Given the description of an element on the screen output the (x, y) to click on. 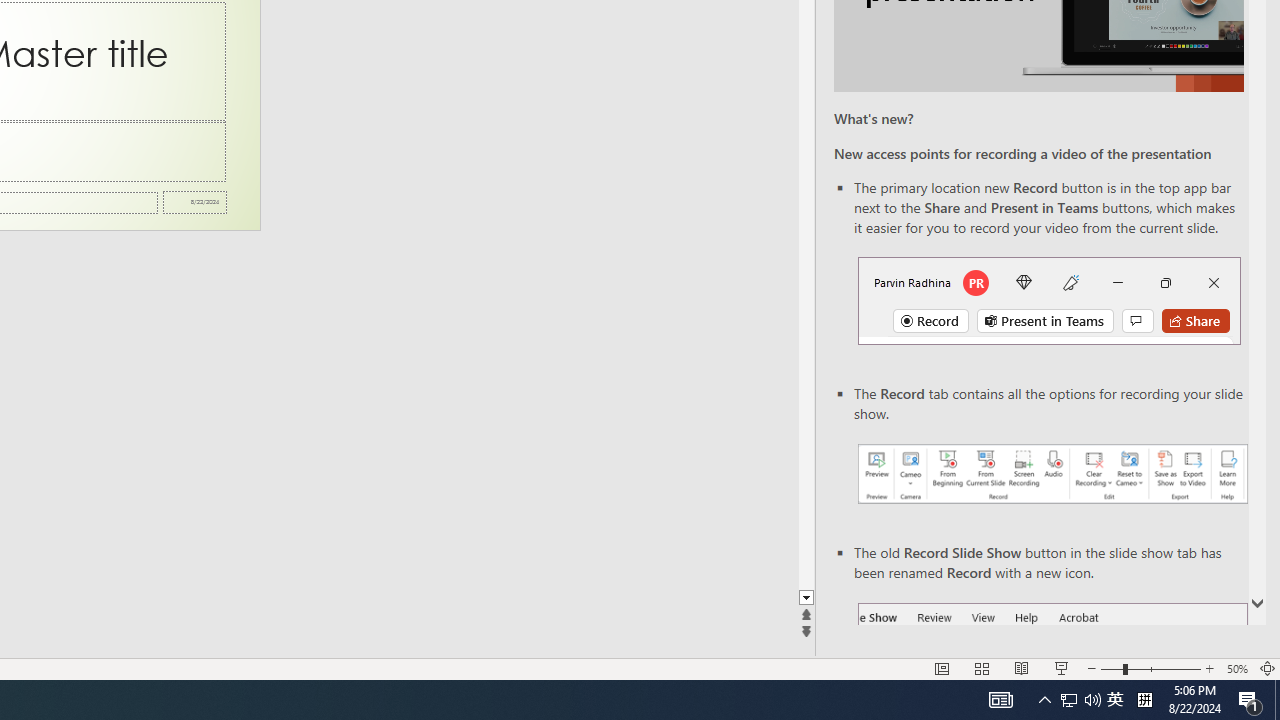
Date (194, 201)
Zoom 50% (1236, 668)
Record button in top bar (1049, 300)
Record your presentations screenshot one (1052, 473)
